Given the description of an element on the screen output the (x, y) to click on. 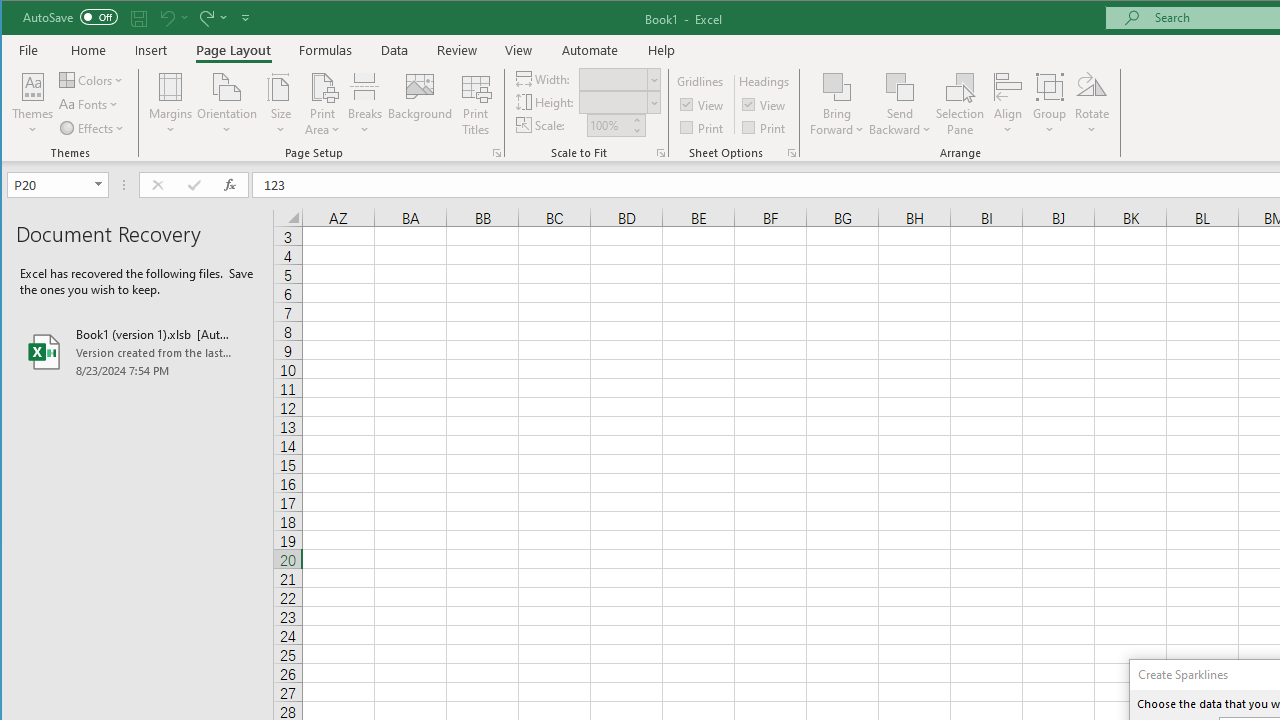
Size (280, 104)
Send Backward (900, 104)
Print (765, 126)
Fonts (90, 103)
Orientation (226, 104)
Width (612, 79)
